Given the description of an element on the screen output the (x, y) to click on. 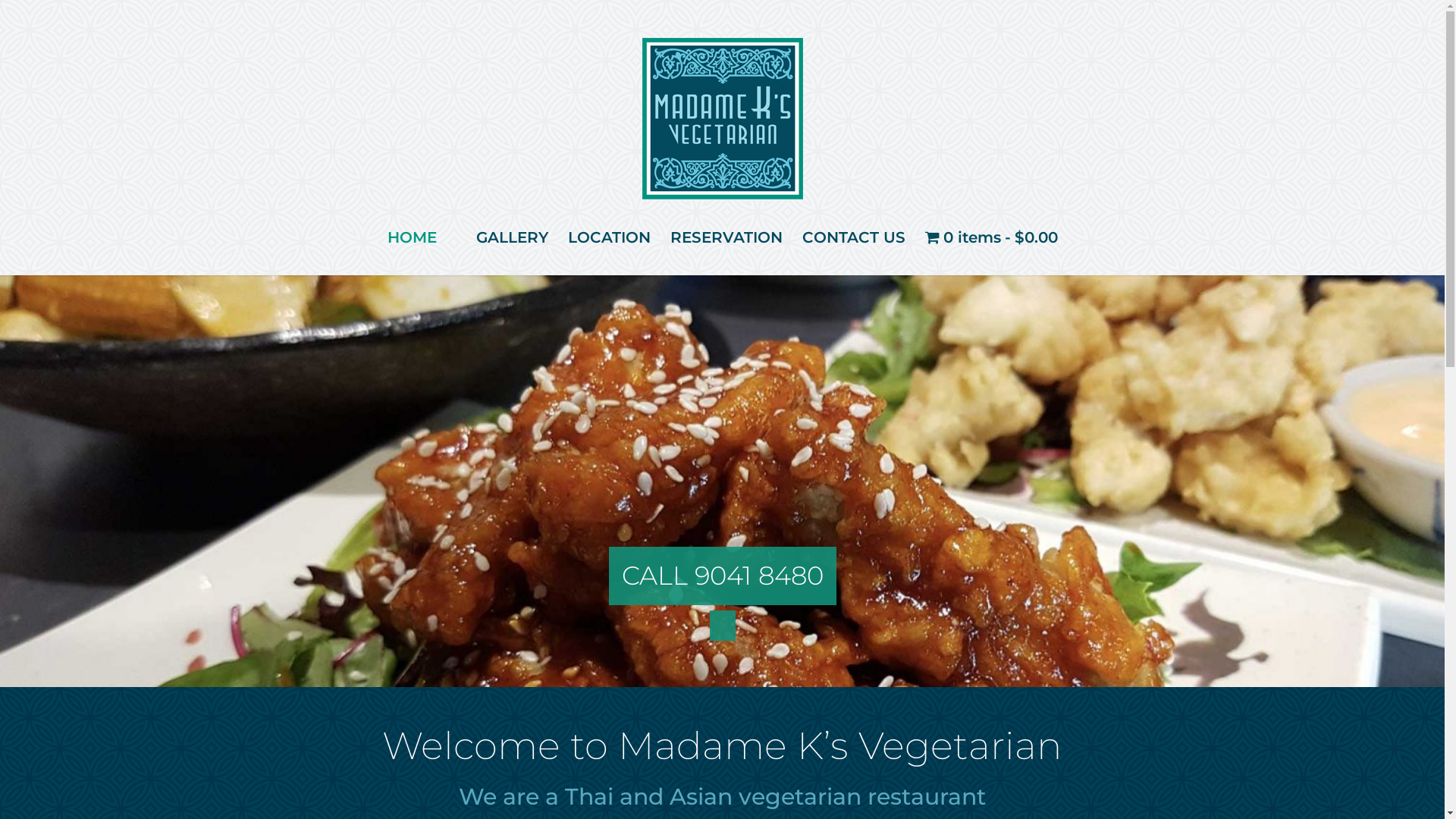
CALL 9041 8480 Element type: text (722, 575)
CONTACT US Element type: text (852, 237)
0 items$0.00 Element type: text (990, 237)
HOME Element type: text (411, 237)
LOCATION Element type: text (609, 237)
RESERVATION Element type: text (725, 237)
GALLERY Element type: text (511, 237)
